Given the description of an element on the screen output the (x, y) to click on. 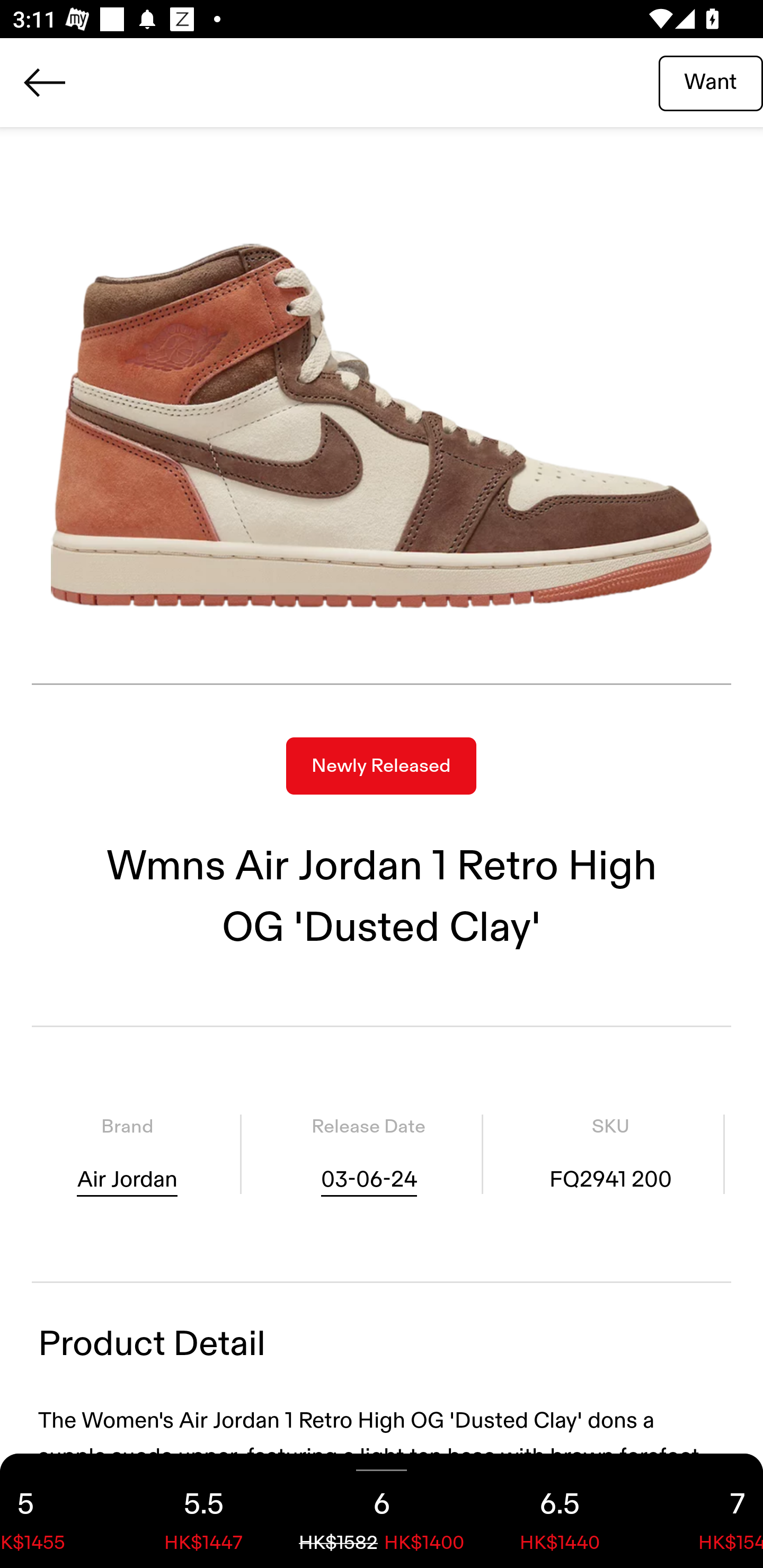
Want (710, 82)
Newly Released (381, 765)
Brand Air Jordan (126, 1153)
Release Date 03-06-24 (368, 1153)
SKU FQ2941 200 (609, 1153)
5 HK$1455 (57, 1510)
5.5 HK$1447 (203, 1510)
6 HK$1582 HK$1400 (381, 1510)
6.5 HK$1440 (559, 1510)
7 HK$1542 (705, 1510)
